Given the description of an element on the screen output the (x, y) to click on. 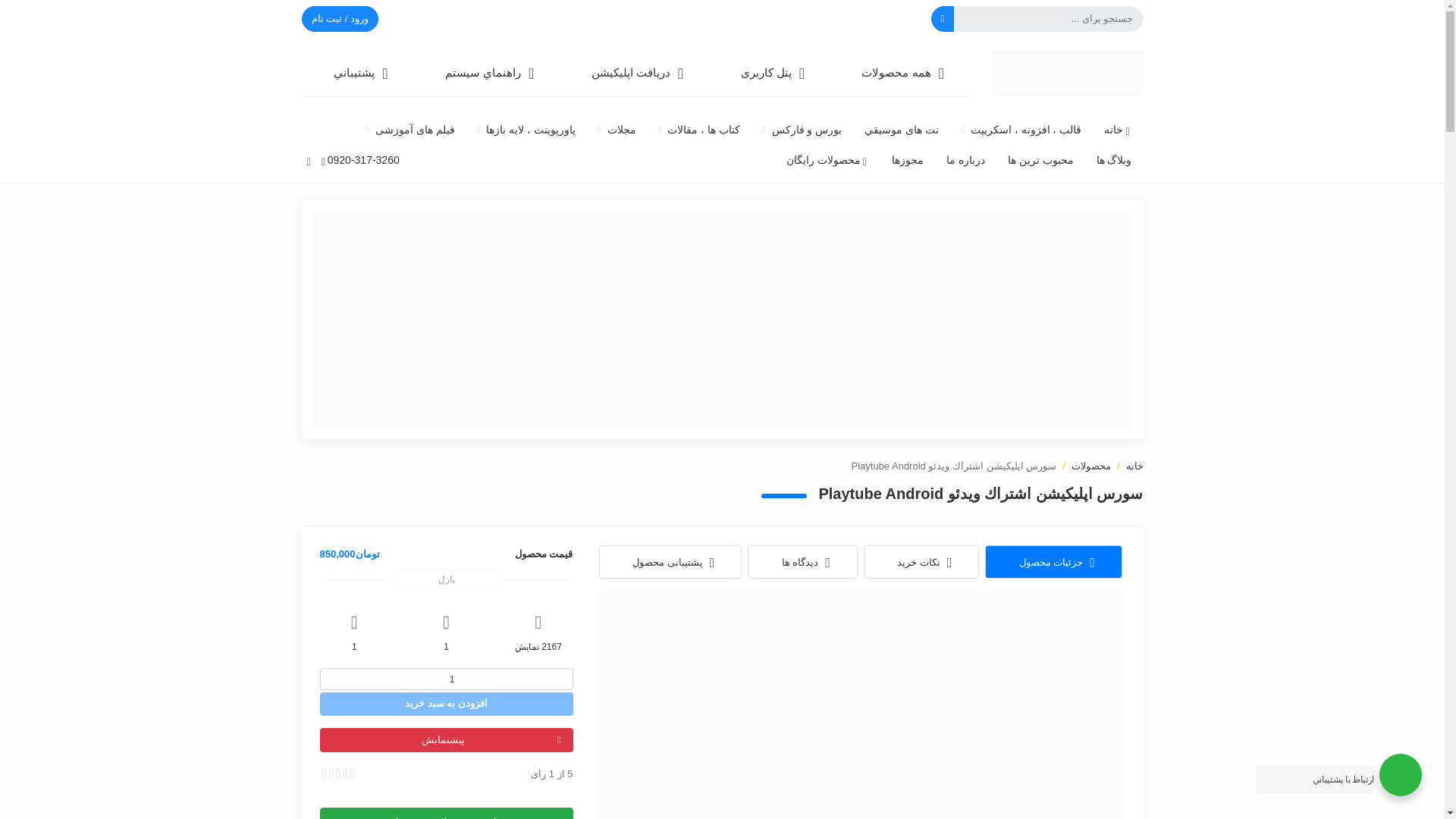
1 (446, 679)
